Given the description of an element on the screen output the (x, y) to click on. 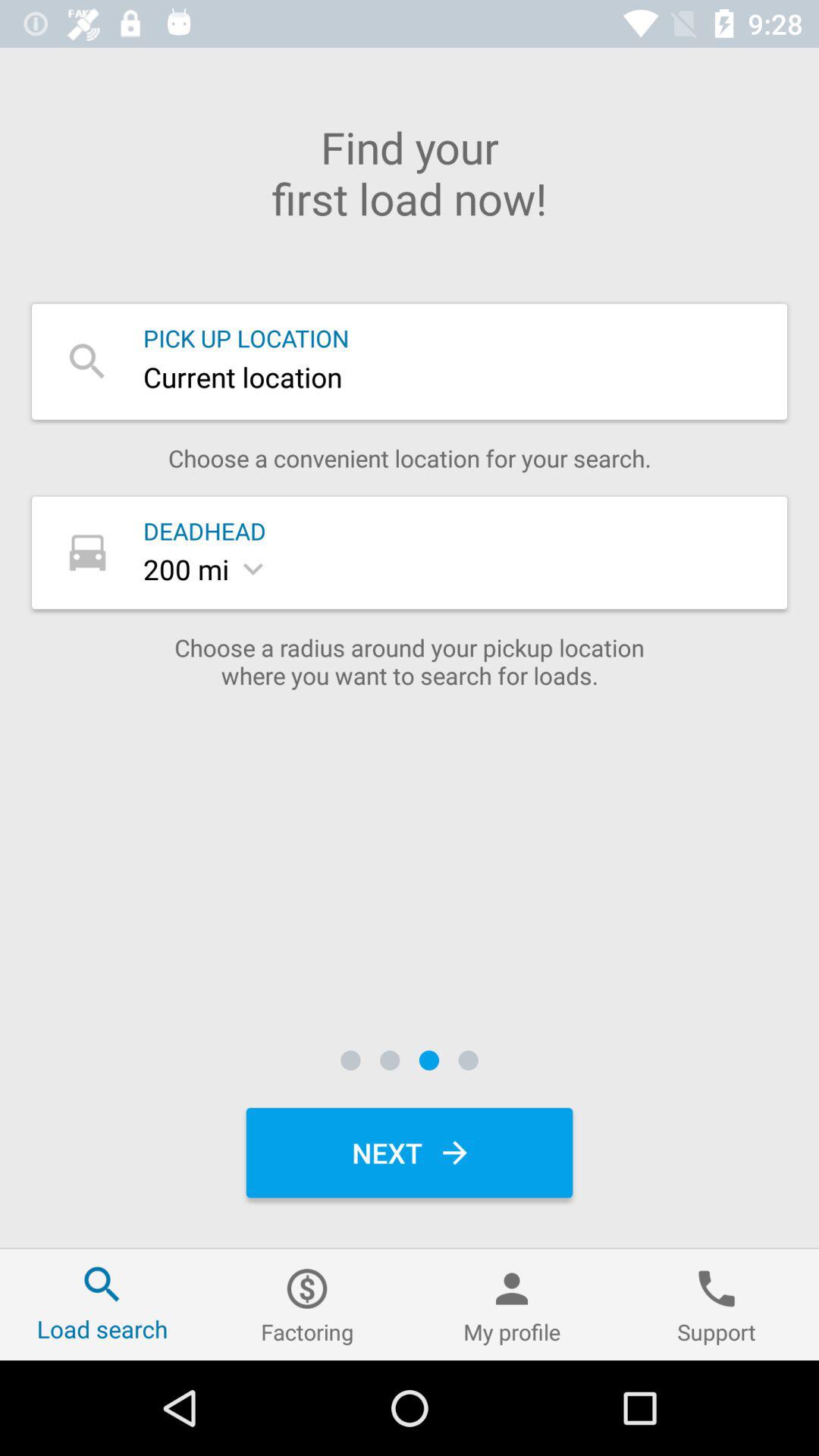
select the item to the right of the factoring icon (511, 1304)
